Given the description of an element on the screen output the (x, y) to click on. 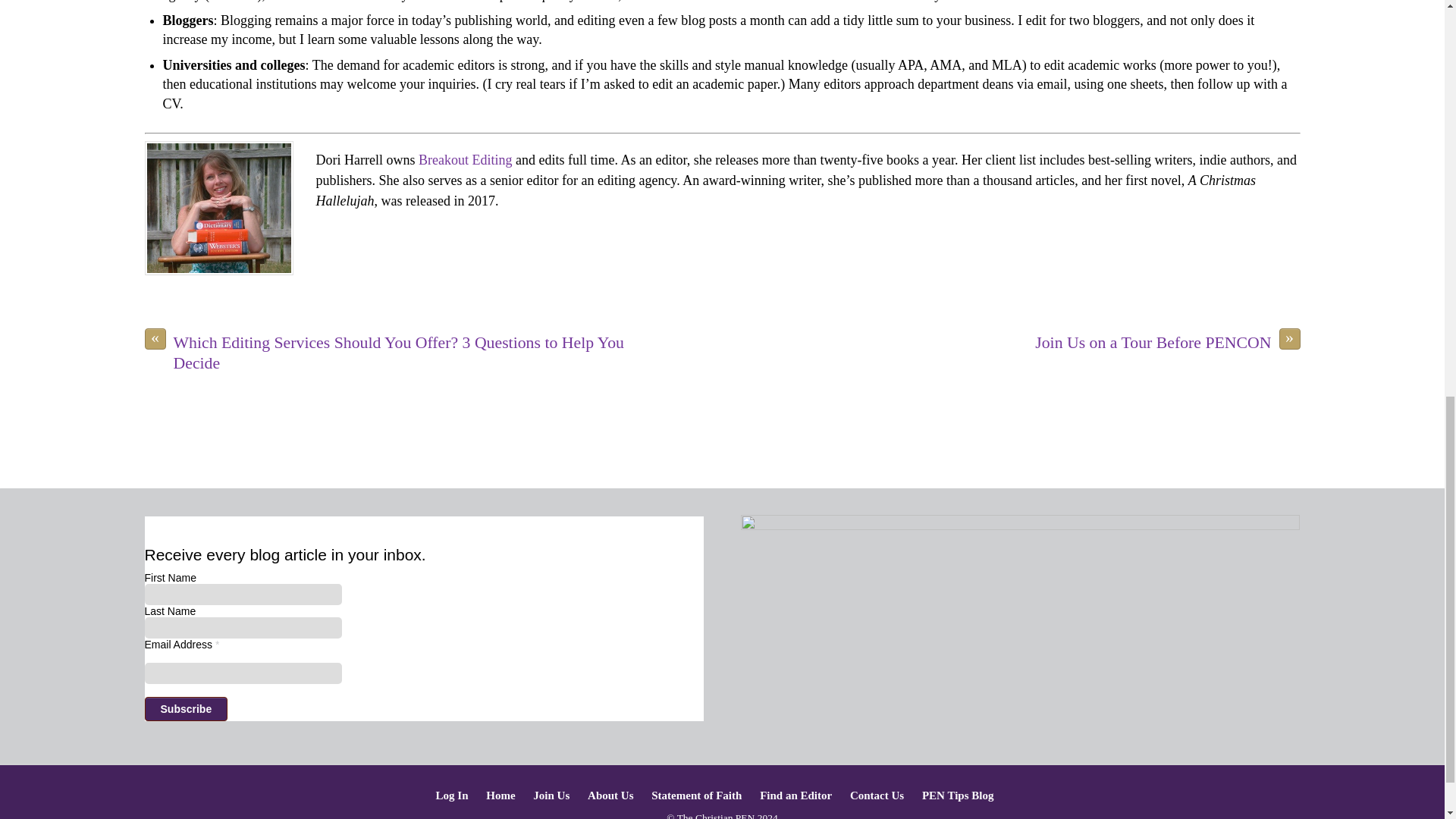
PEN web banner (1020, 579)
Subscribe (185, 708)
About Us (610, 795)
Subscribe (185, 708)
Home (500, 795)
Breakout Editing (465, 159)
Join Us (550, 795)
Log In (451, 795)
